Given the description of an element on the screen output the (x, y) to click on. 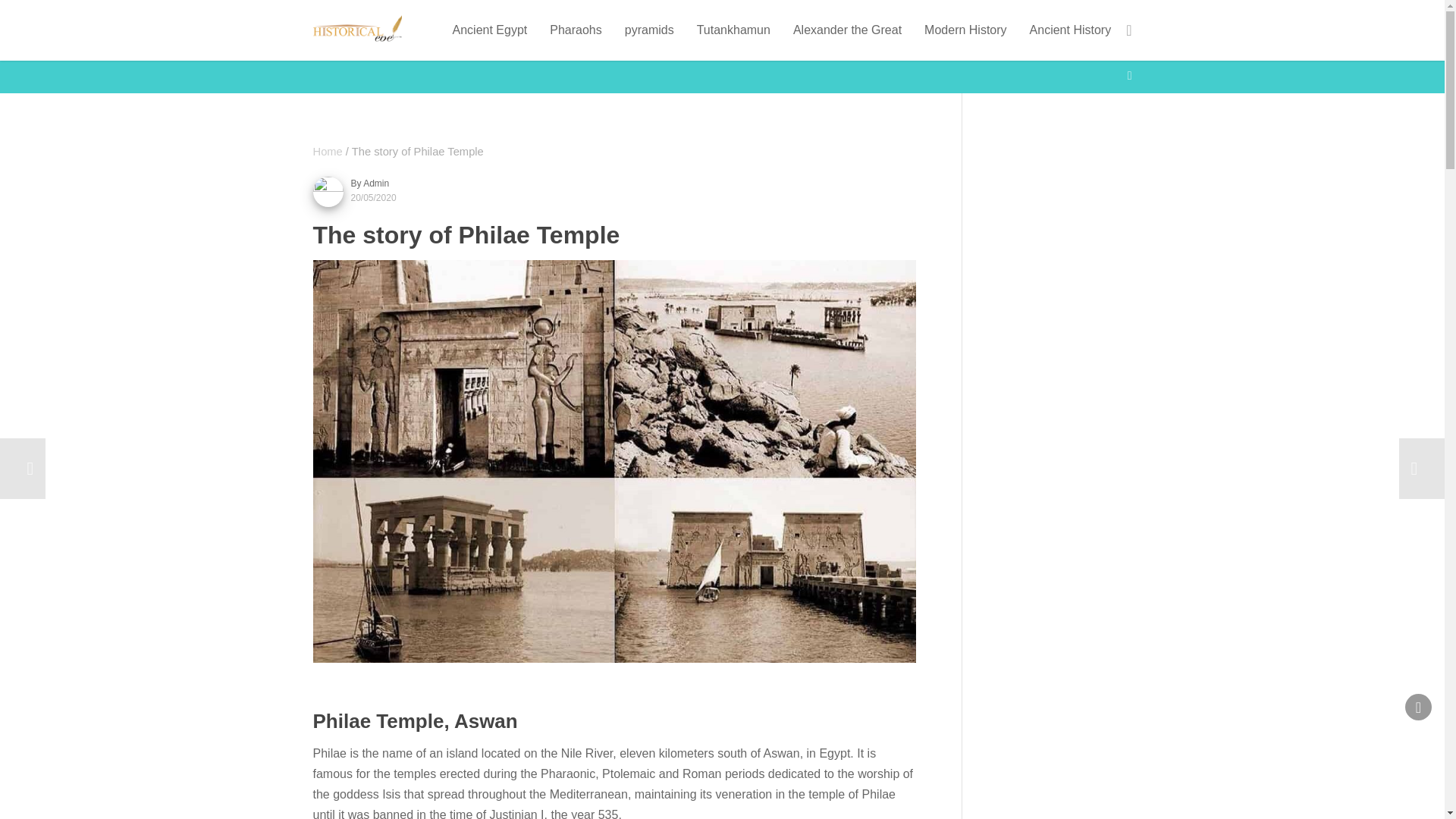
Modern History (965, 30)
Ancient Egypt (489, 30)
Ancient History (1070, 30)
Home (327, 151)
Admin (375, 183)
Historicaleve (327, 151)
Tutankhamun (733, 30)
Posts by Admin (375, 183)
Alexander the Great (847, 30)
